Given the description of an element on the screen output the (x, y) to click on. 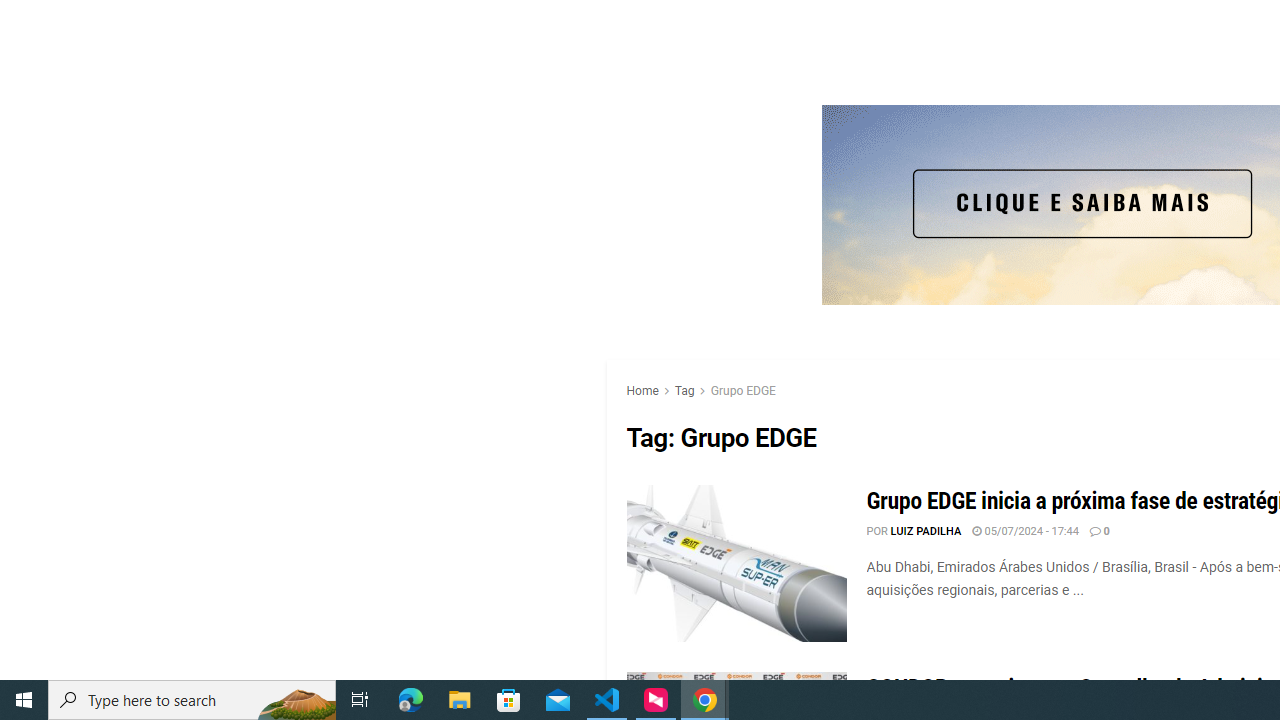
Tag (684, 390)
Grupo EDGE (742, 390)
LUIZ PADILHA (925, 530)
